Given the description of an element on the screen output the (x, y) to click on. 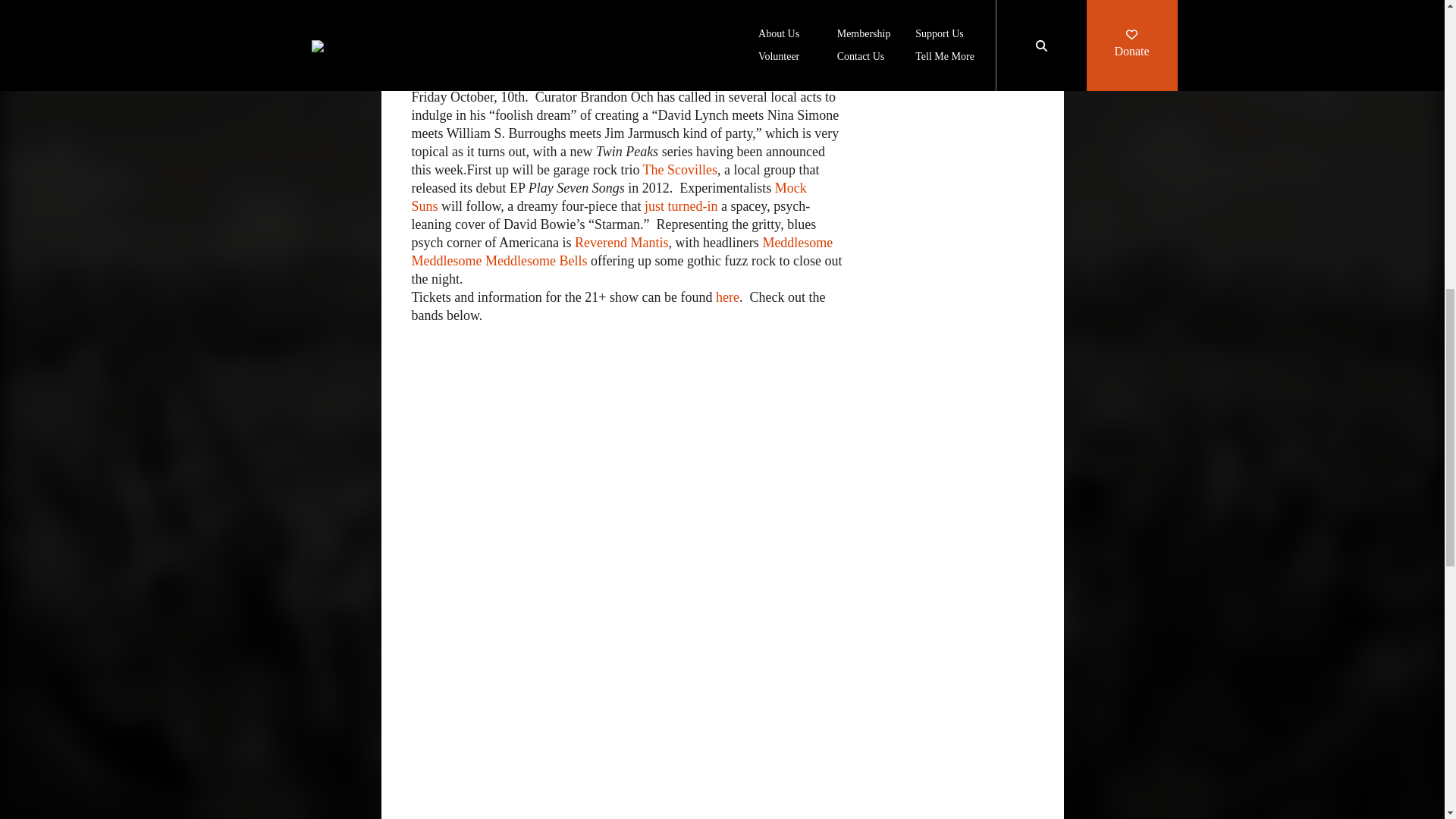
The Scovilles (680, 169)
Reverend Mantis (621, 242)
here (727, 296)
Meddlesome Meddlesome Meddlesome Bells (621, 251)
Mock Suns (608, 196)
just turned-in (681, 206)
